Given the description of an element on the screen output the (x, y) to click on. 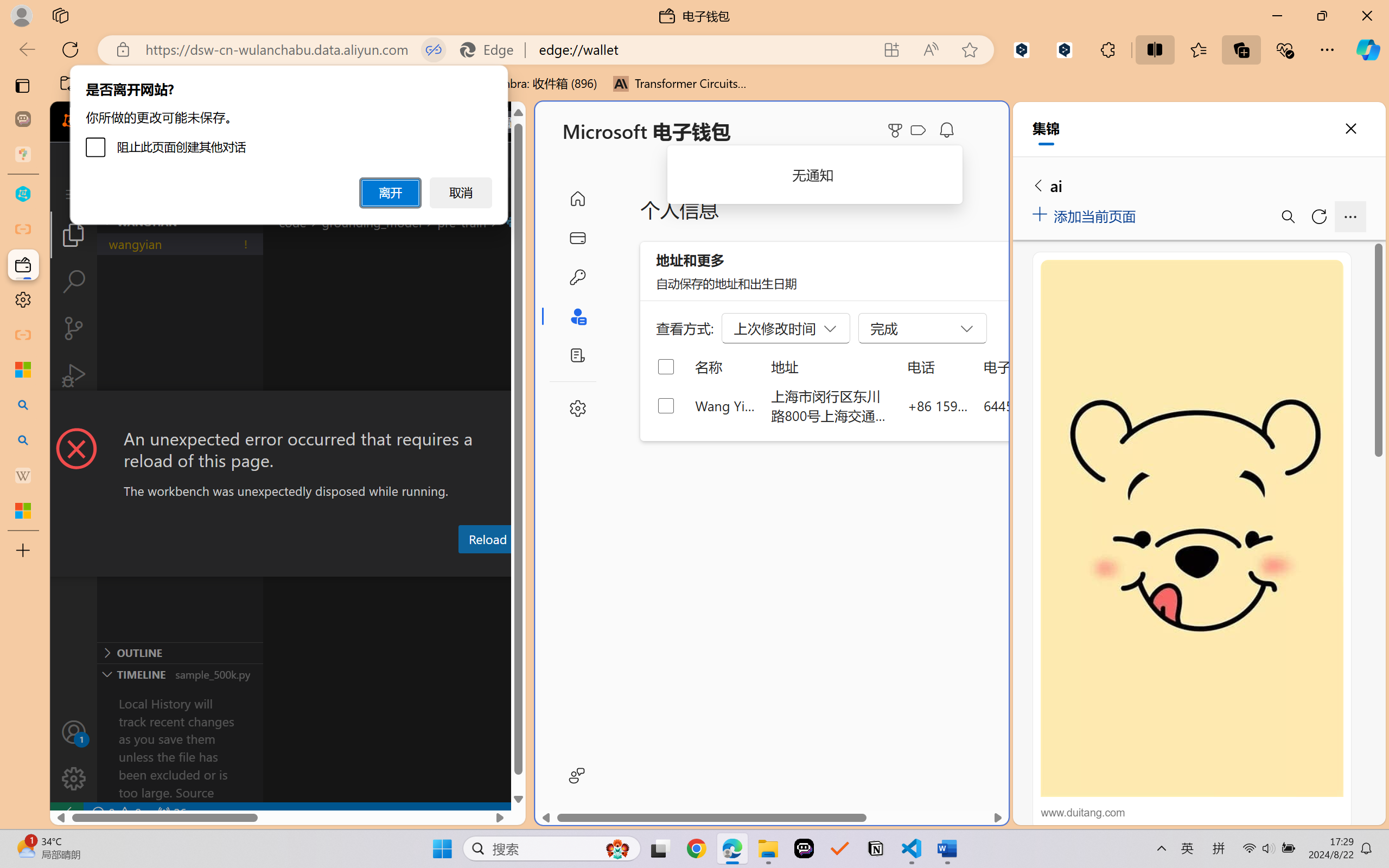
Wang Yian (725, 405)
Copilot (Ctrl+Shift+.) (1368, 49)
Problems (Ctrl+Shift+M) (308, 565)
remote (66, 812)
Reload (486, 538)
